Given the description of an element on the screen output the (x, y) to click on. 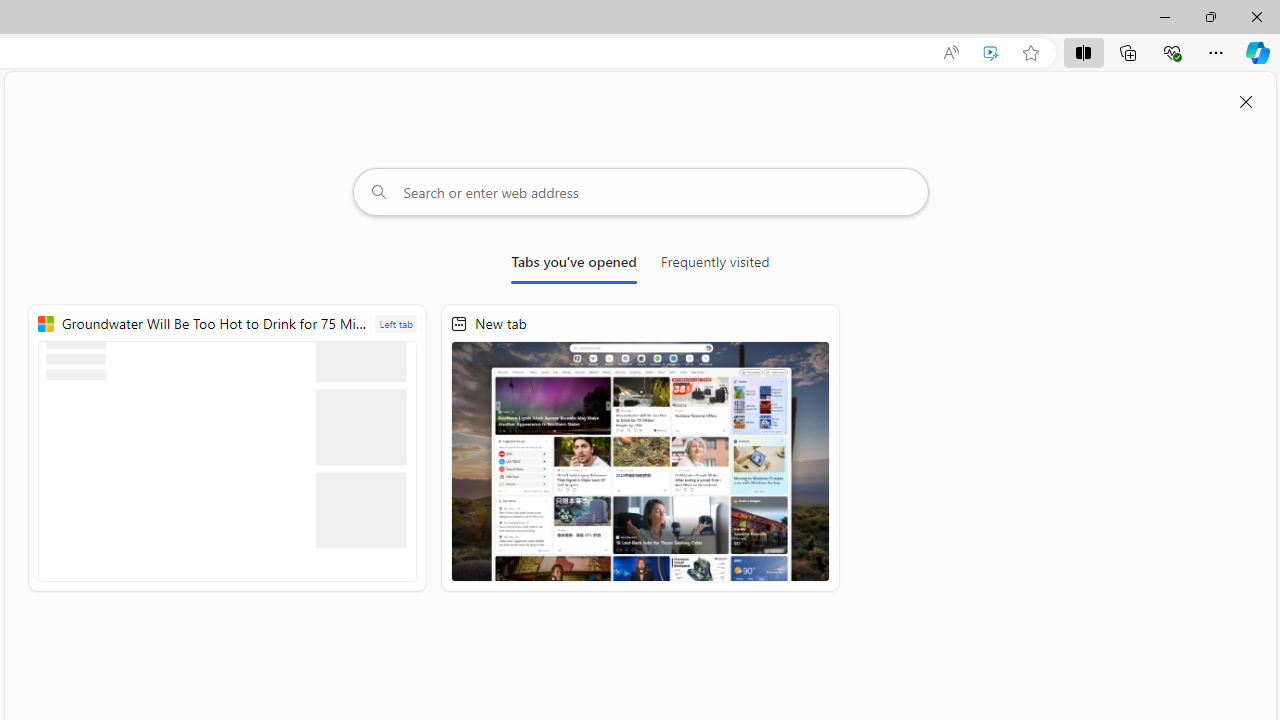
Frequently visited (715, 265)
Tabs you've opened (573, 265)
Enhance video (991, 53)
Search or enter web address (640, 191)
